Given the description of an element on the screen output the (x, y) to click on. 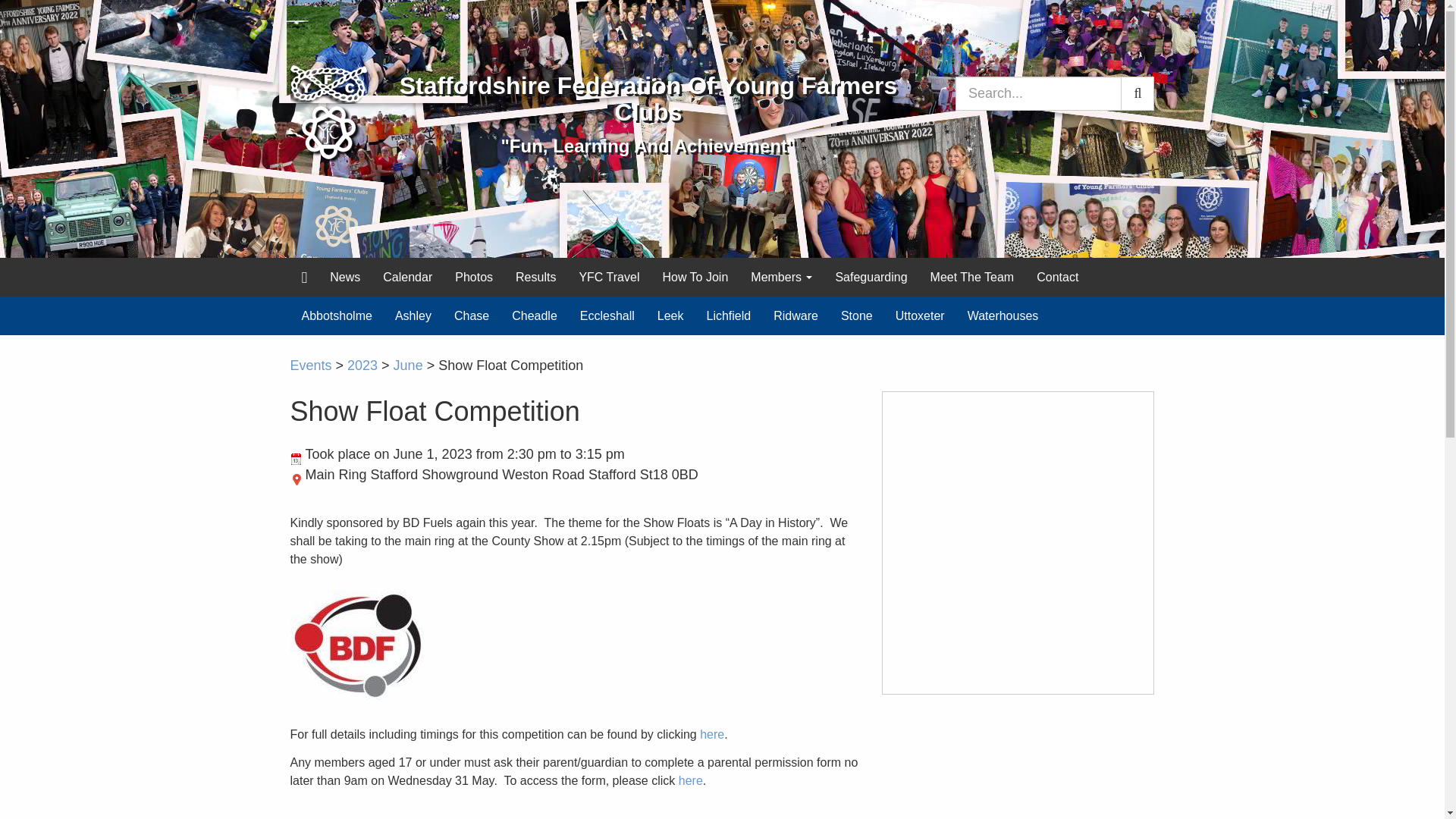
Ridware (795, 315)
How To Join (694, 276)
Contact (1057, 276)
Leek (670, 315)
YFC Travel (608, 276)
Abbotsholme (335, 315)
Photos (473, 276)
Ashley (413, 315)
Results (535, 276)
2023 (362, 365)
